Given the description of an element on the screen output the (x, y) to click on. 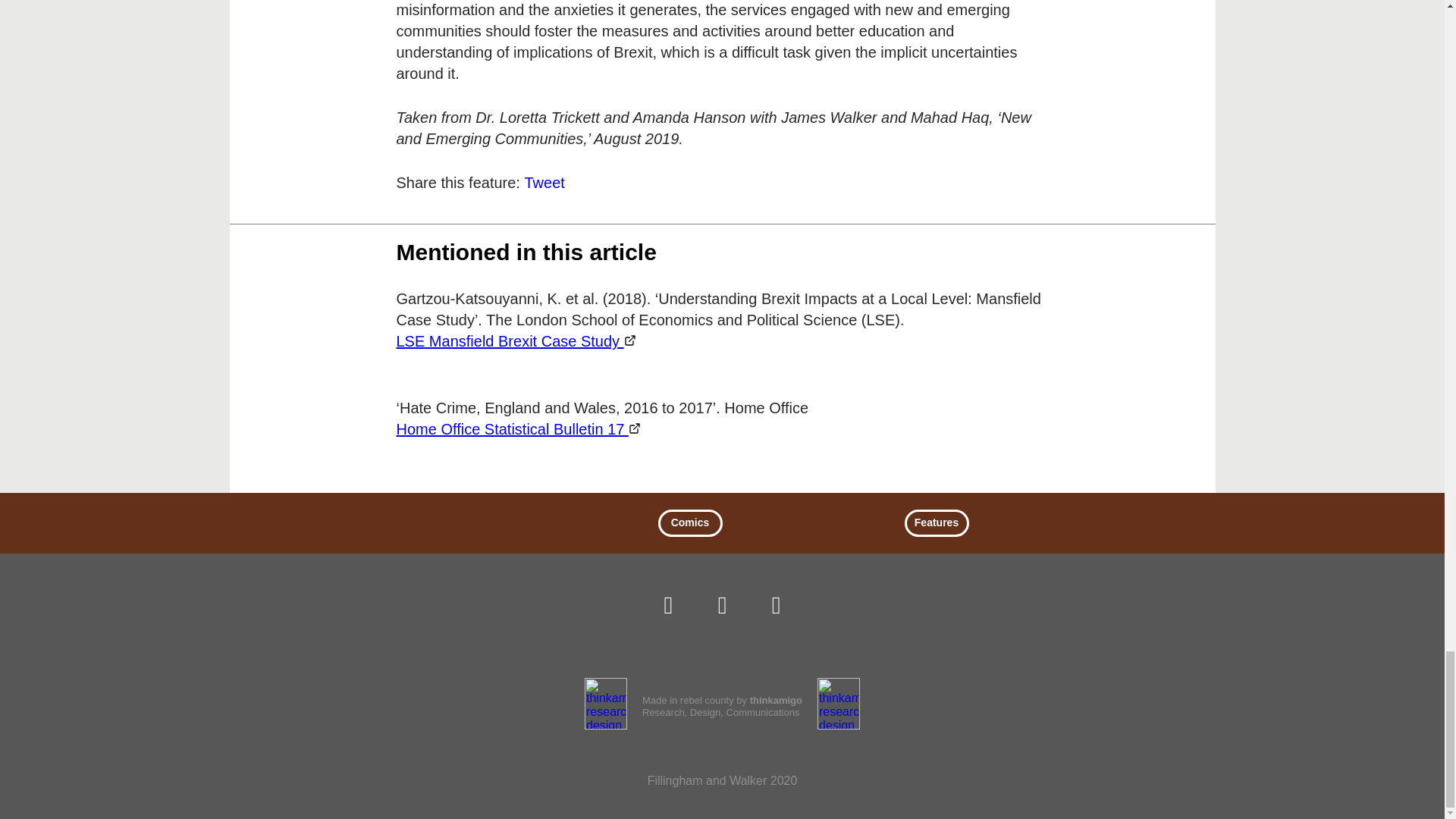
Instagram (668, 604)
Tweet (544, 182)
LSE Mansfield Brexit Case Study (515, 341)
Features (936, 523)
Comics (690, 523)
Home Office Statistical Bulletin 17 (518, 428)
Twitter (722, 604)
YouTube (776, 604)
